Given the description of an element on the screen output the (x, y) to click on. 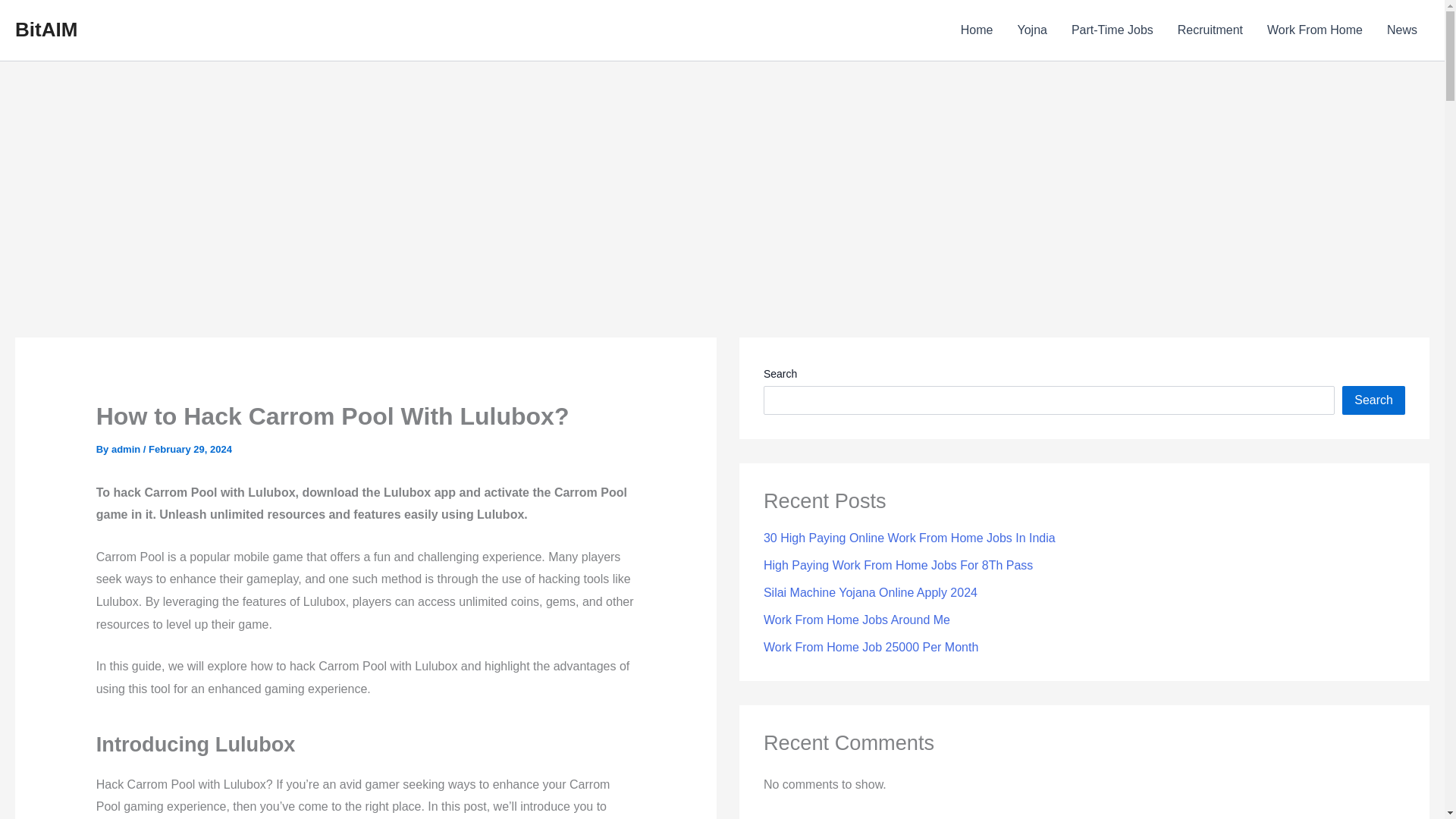
Home (977, 30)
Silai Machine Yojana Online Apply 2024 (869, 592)
Work From Home (1314, 30)
admin (127, 449)
Recruitment (1210, 30)
High Paying Work From Home Jobs For 8Th Pass (897, 564)
30 High Paying Online Work From Home Jobs In India (908, 537)
Work From Home Jobs Around Me (856, 619)
Search (1373, 399)
